Given the description of an element on the screen output the (x, y) to click on. 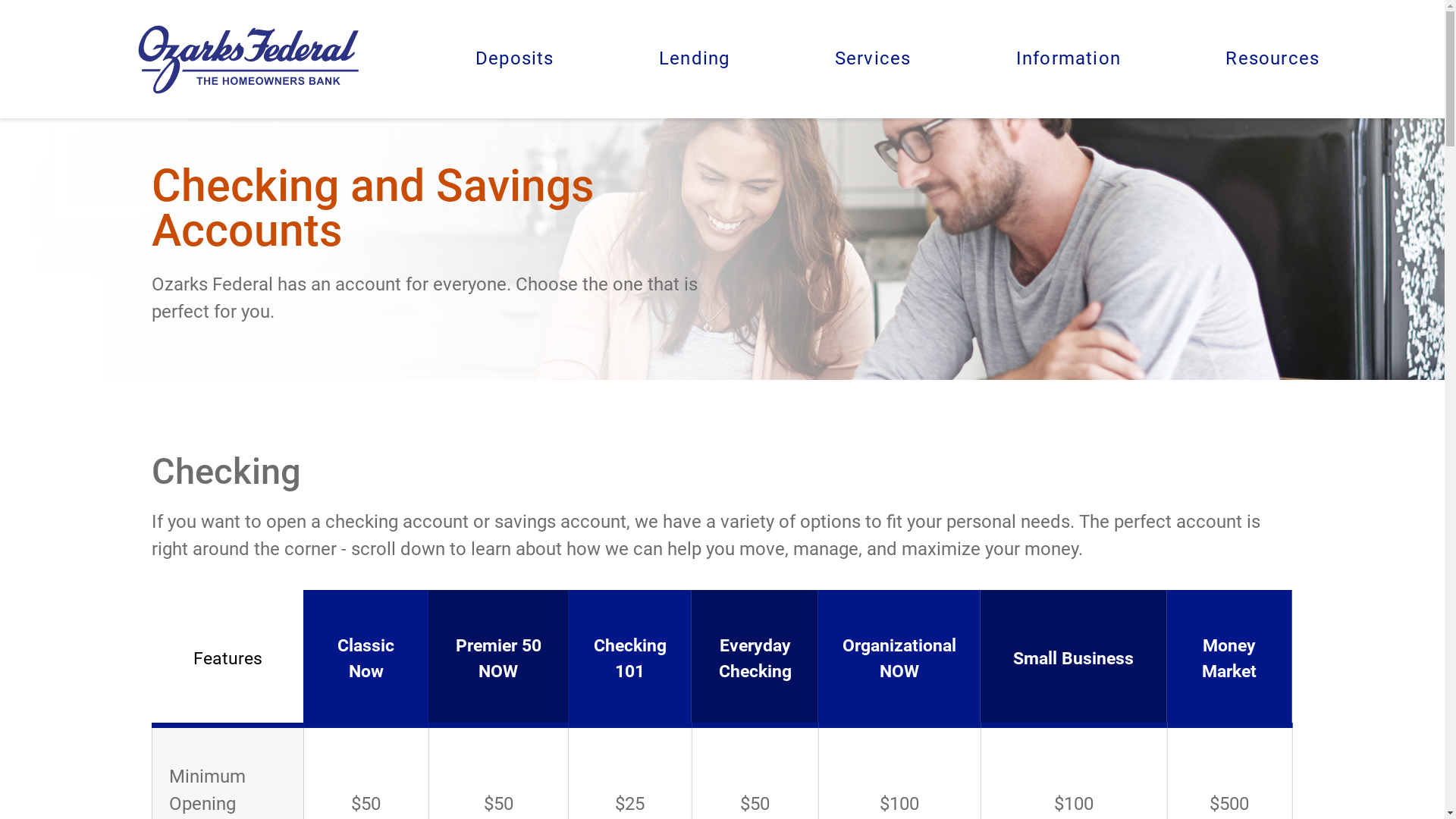
Deposits Element type: text (514, 59)
Lending Element type: text (694, 59)
Information Element type: text (1068, 59)
Resources Element type: text (1272, 59)
Services Element type: text (873, 59)
